Given the description of an element on the screen output the (x, y) to click on. 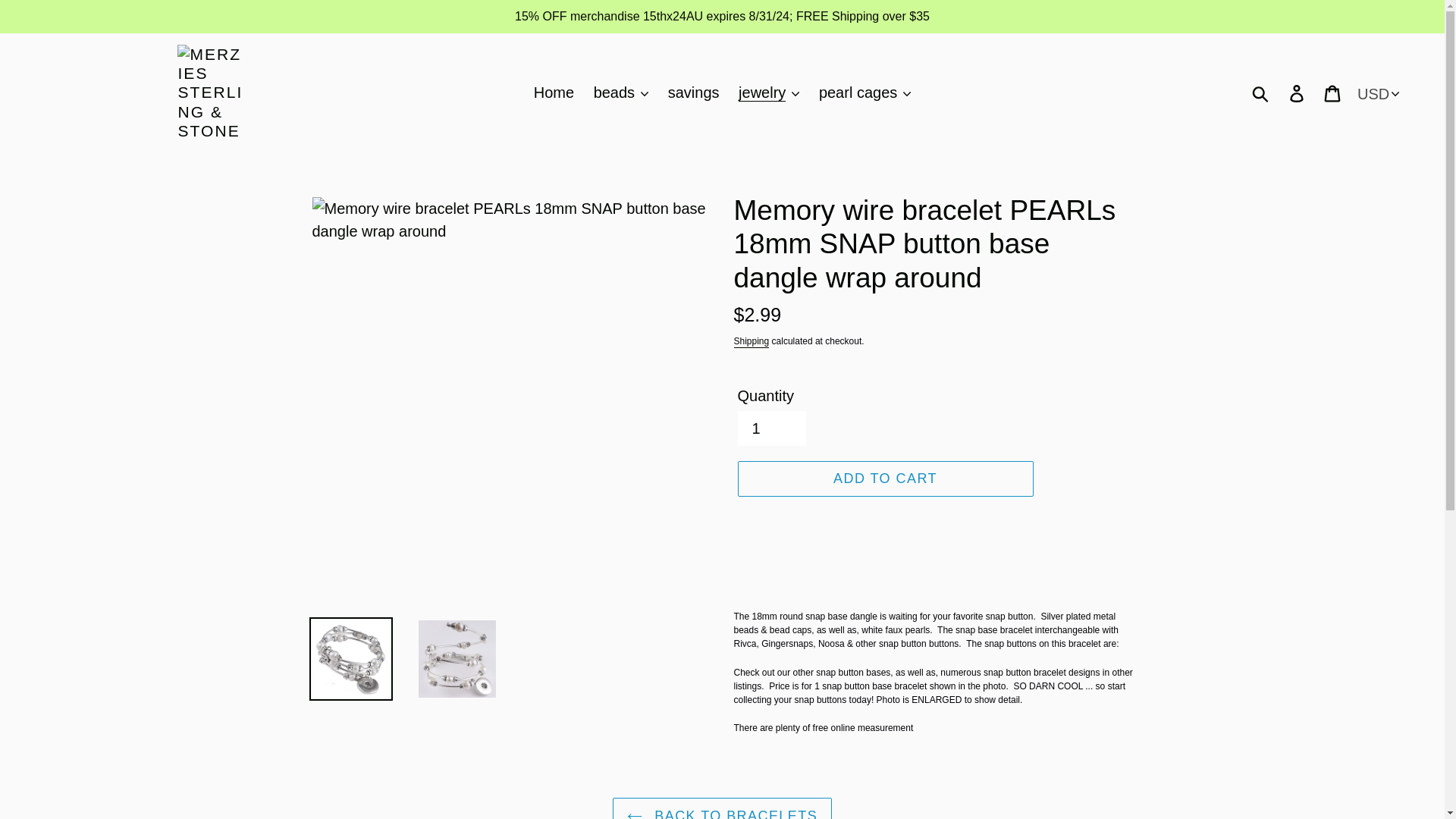
savings (693, 92)
Submit (1261, 92)
Home (552, 92)
Cart (1333, 92)
1 (770, 428)
Log in (1297, 92)
